Given the description of an element on the screen output the (x, y) to click on. 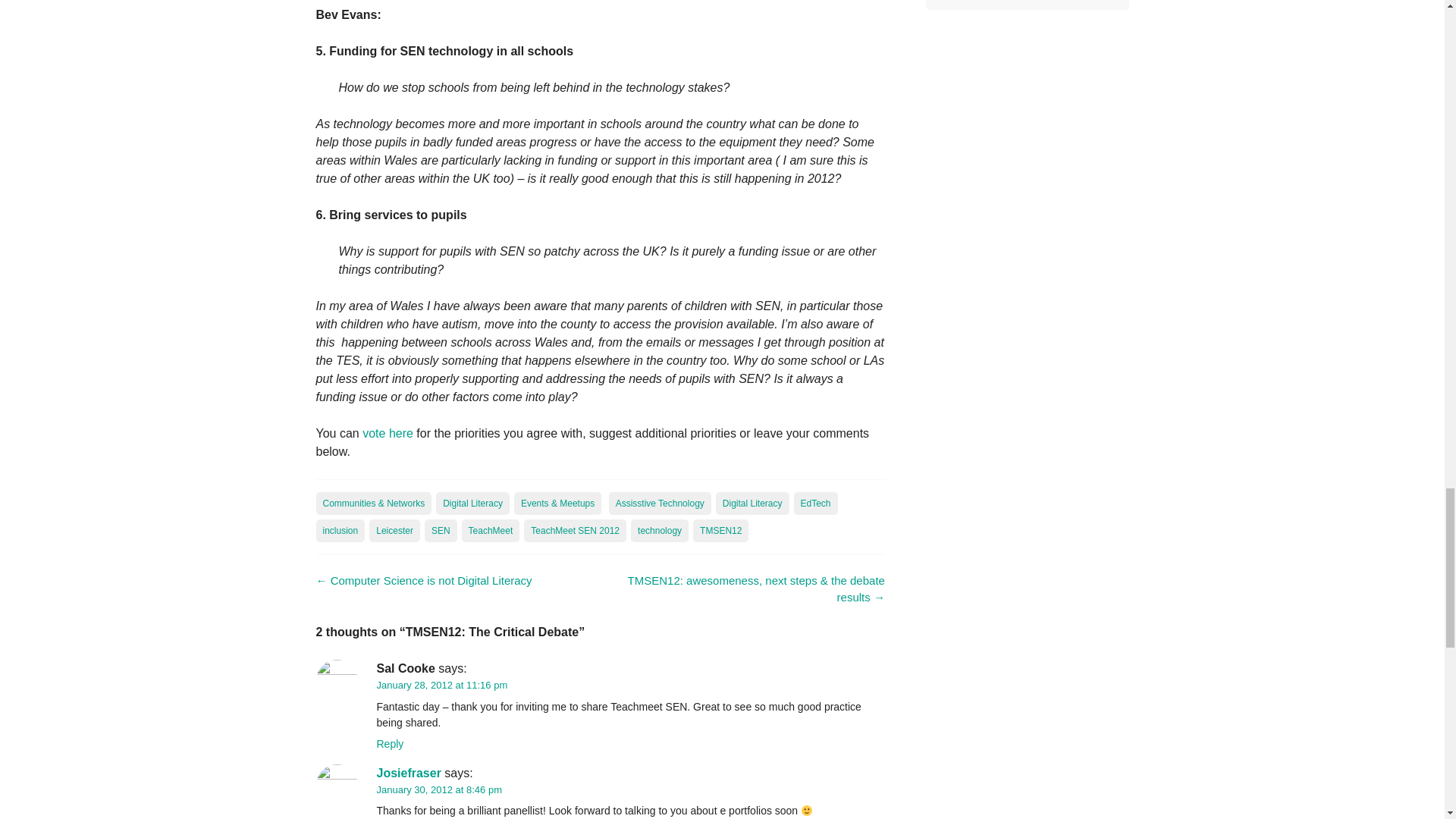
SEN (441, 530)
TeachMeet (490, 530)
Digital Literacy (752, 503)
EdTech (815, 503)
TMSEN12 (720, 530)
inclusion (340, 530)
January 28, 2012 at 11:16 pm (440, 685)
TeachMeet SEN 2012 (575, 530)
Reply (389, 743)
Assisstive Technology (659, 503)
January 30, 2012 at 8:46 pm (438, 789)
vote here (387, 432)
technology (659, 530)
Leicester (394, 530)
Digital Literacy (472, 503)
